Given the description of an element on the screen output the (x, y) to click on. 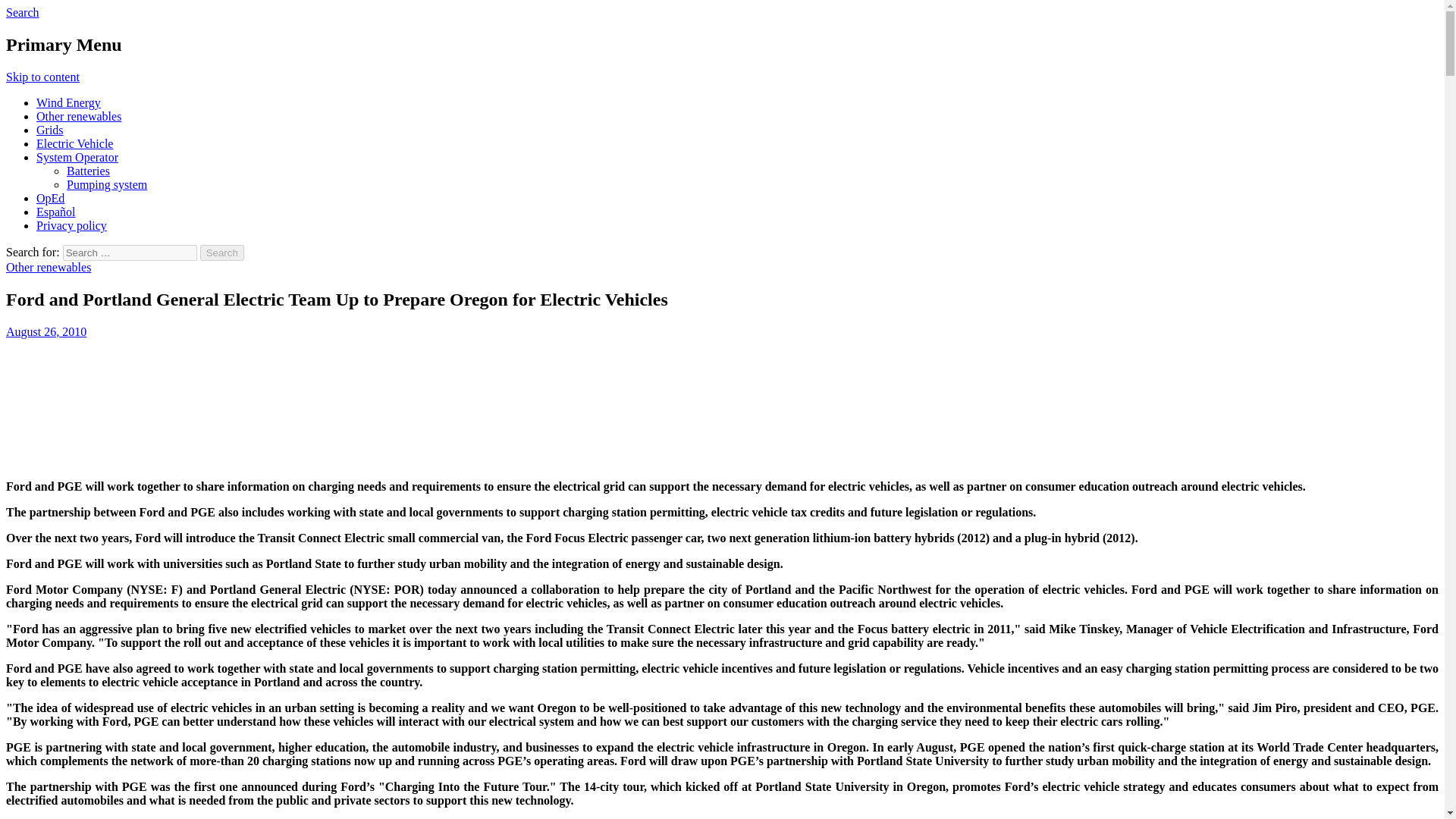
System Operator (76, 156)
Wind Energy (68, 102)
Pumping system (106, 184)
Search (22, 11)
Privacy policy (71, 225)
August 26, 2010 (45, 331)
Search (222, 252)
Skip to content (42, 76)
Other renewables (47, 267)
Grids (50, 129)
